Given the description of an element on the screen output the (x, y) to click on. 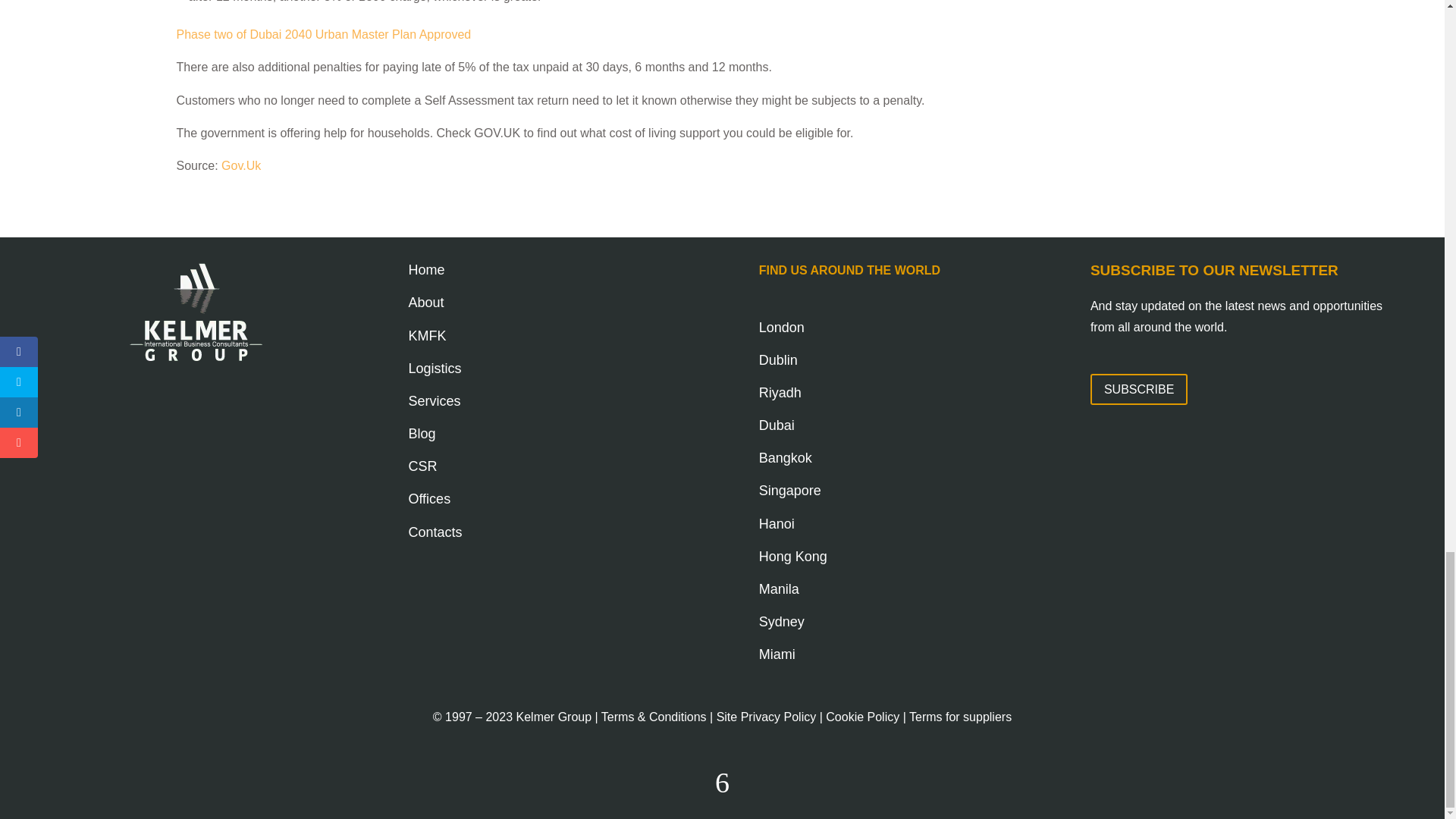
UK: Self Assessment Customers in the Run up to Christmas (721, 788)
kelmer-group-logo (196, 311)
Privacy Policy (766, 716)
